Given the description of an element on the screen output the (x, y) to click on. 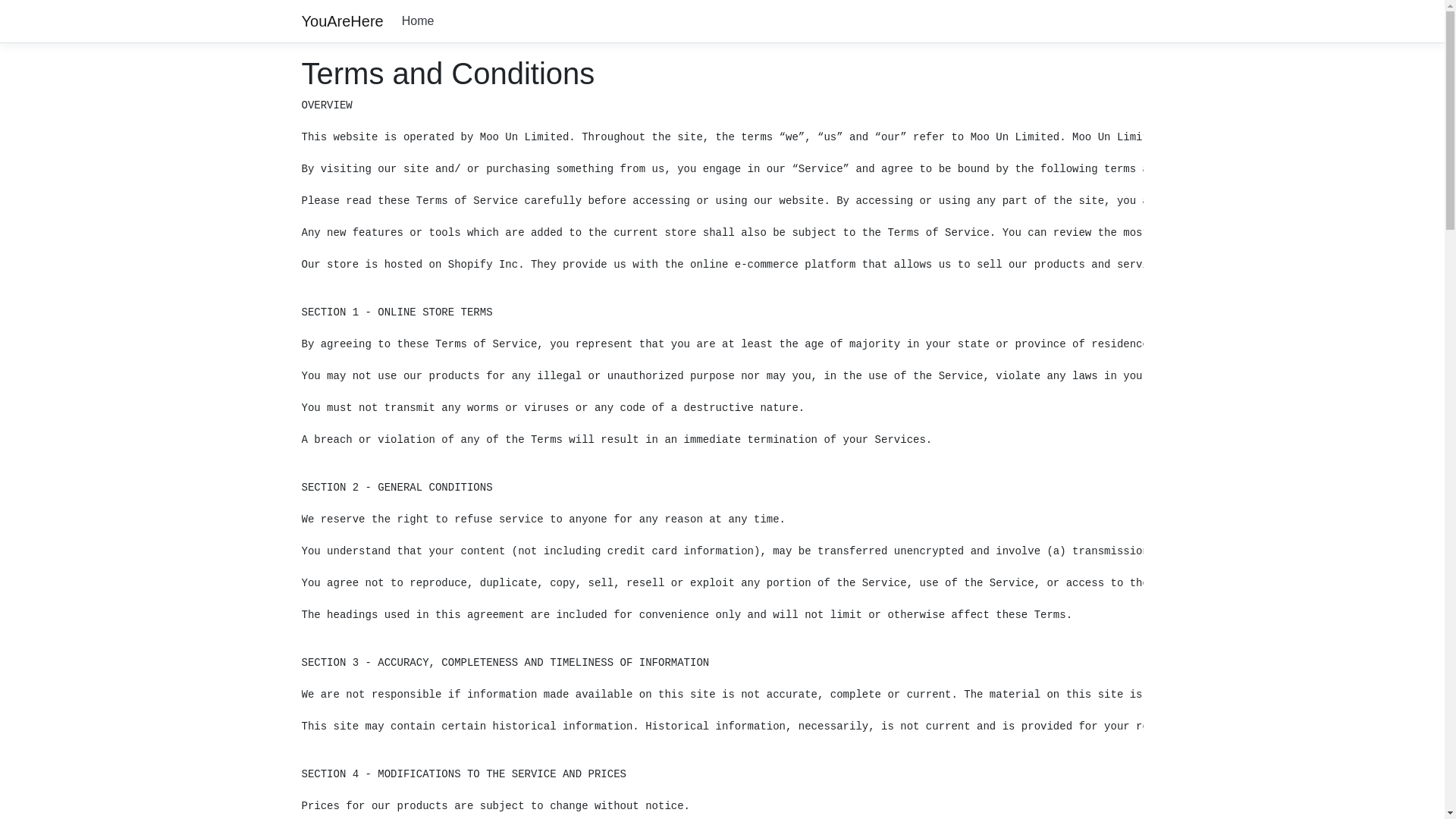
Home Element type: text (417, 21)
YouAreHere Element type: text (342, 21)
